Given the description of an element on the screen output the (x, y) to click on. 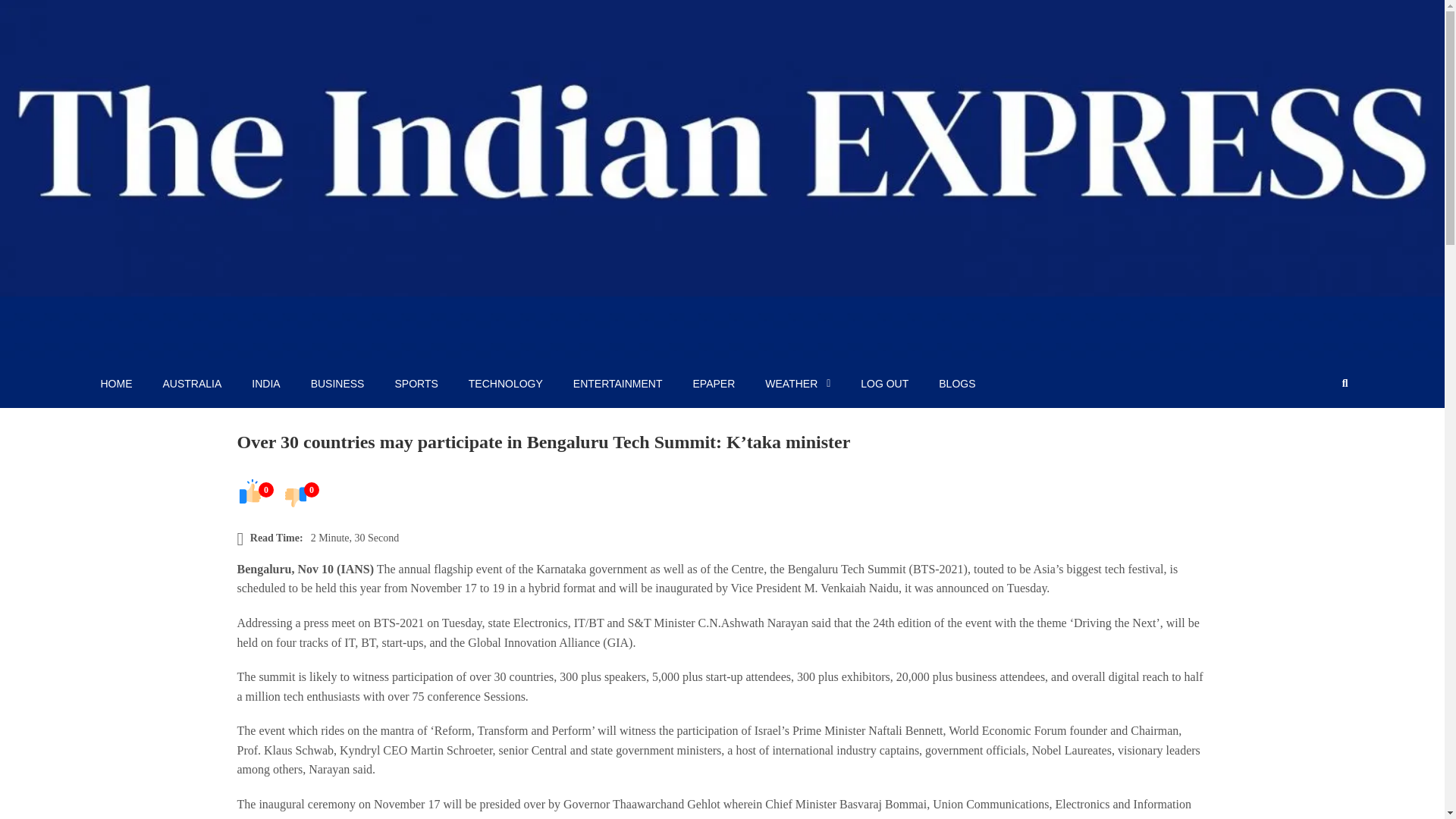
WEATHER (797, 383)
BUSINESS (337, 383)
SPORTS (415, 383)
AUSTRALIA (191, 383)
INDIA (265, 383)
TECHNOLOGY (504, 383)
BLOGS (956, 383)
ENTERTAINMENT (617, 383)
The Indian Express (186, 343)
HOME (115, 383)
